Given the description of an element on the screen output the (x, y) to click on. 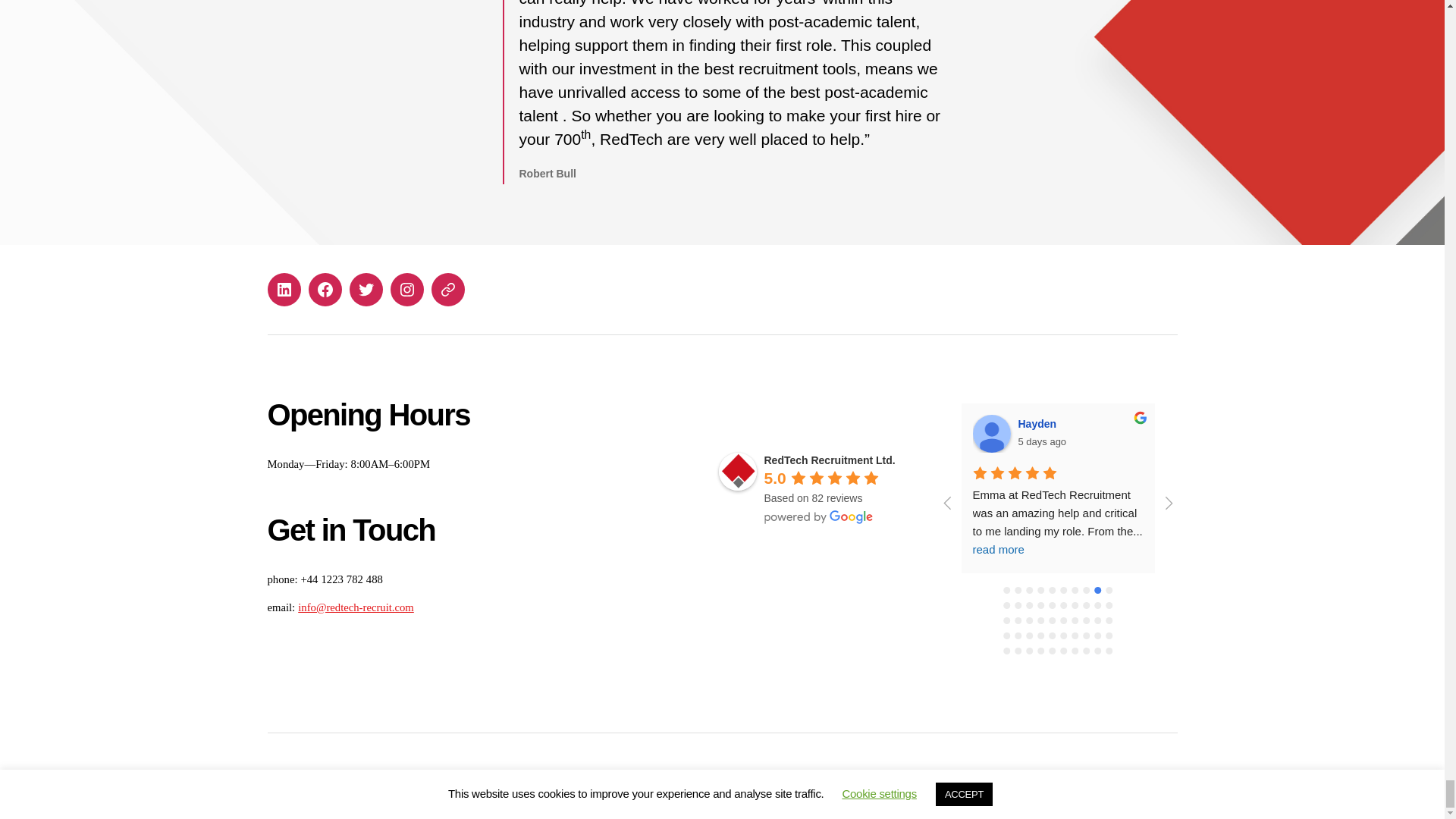
Vlad (1407, 433)
Jack Holden (1200, 433)
Hayden (991, 433)
RedTech Recruitment Ltd. (738, 471)
powered by Google (818, 517)
